Given the description of an element on the screen output the (x, y) to click on. 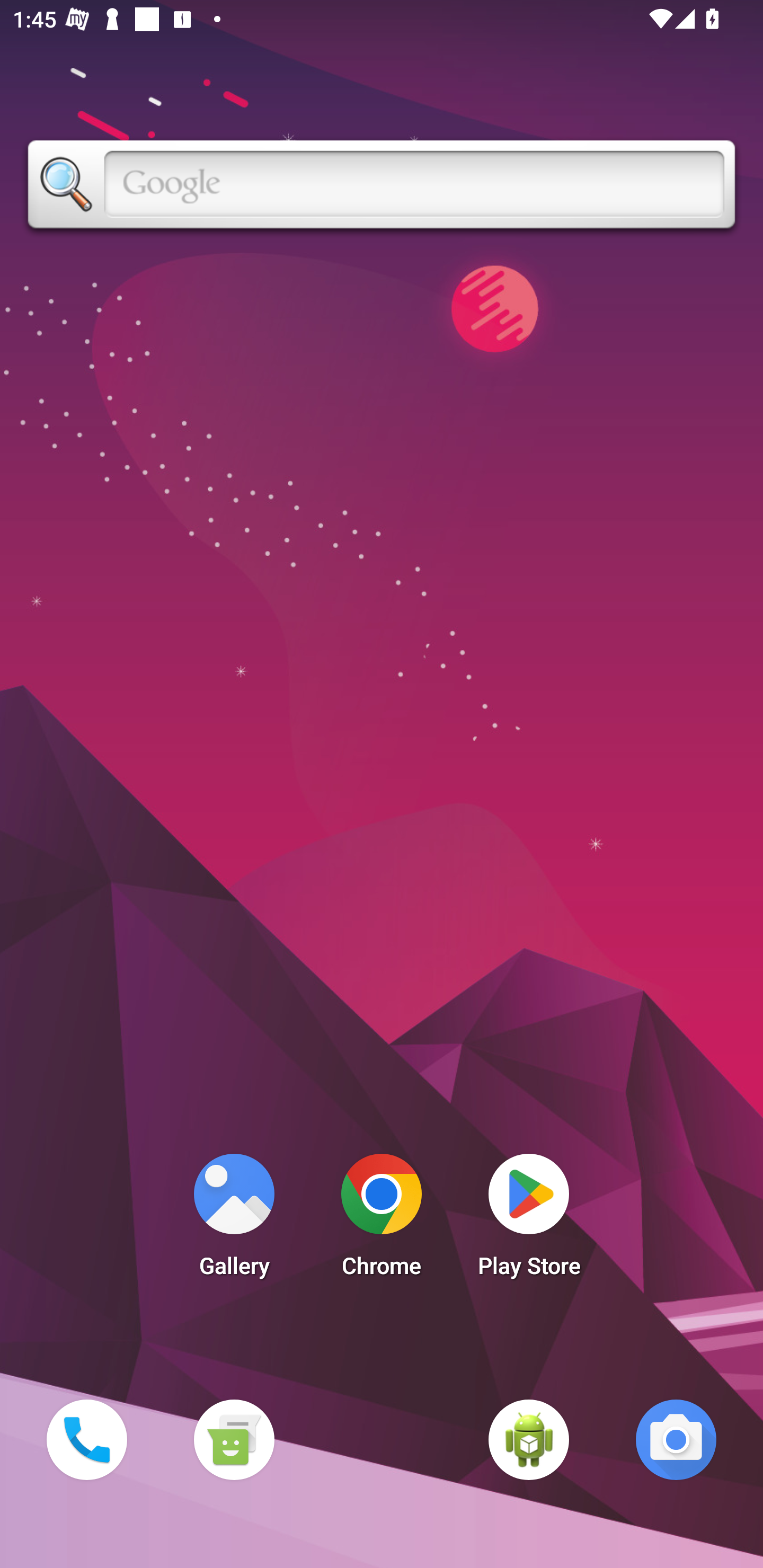
Gallery (233, 1220)
Chrome (381, 1220)
Play Store (528, 1220)
Phone (86, 1439)
Messaging (233, 1439)
WebView Browser Tester (528, 1439)
Camera (676, 1439)
